Given the description of an element on the screen output the (x, y) to click on. 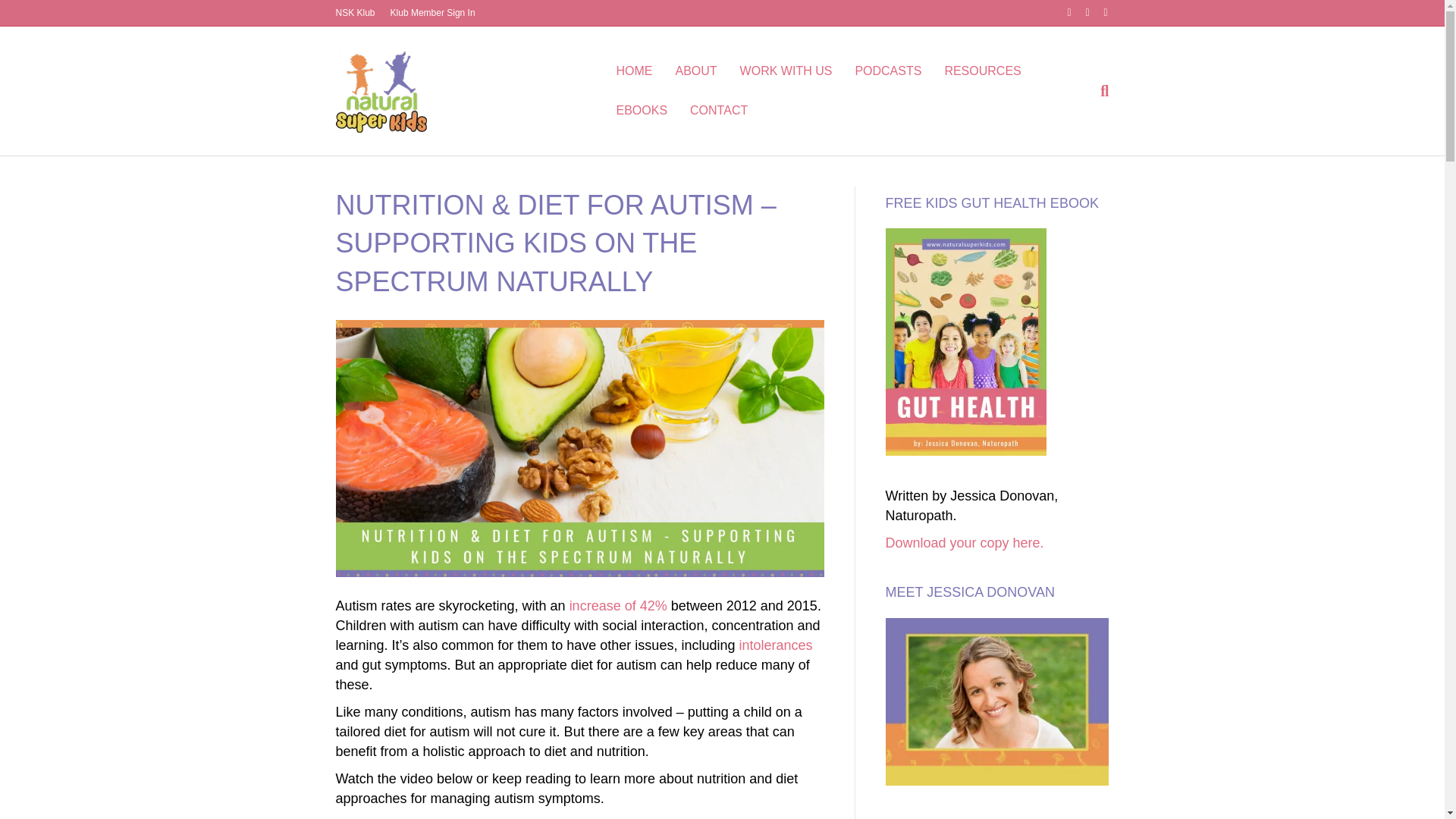
CONTACT (718, 110)
HOME (633, 70)
NSK Klub (354, 13)
ABOUT (695, 70)
EBOOKS (641, 110)
Facebook (1061, 11)
Instagram (1097, 11)
RESOURCES (982, 70)
WORK WITH US (786, 70)
PODCASTS (888, 70)
Klub Member Sign In (432, 13)
Pinterest (1079, 11)
